Given the description of an element on the screen output the (x, y) to click on. 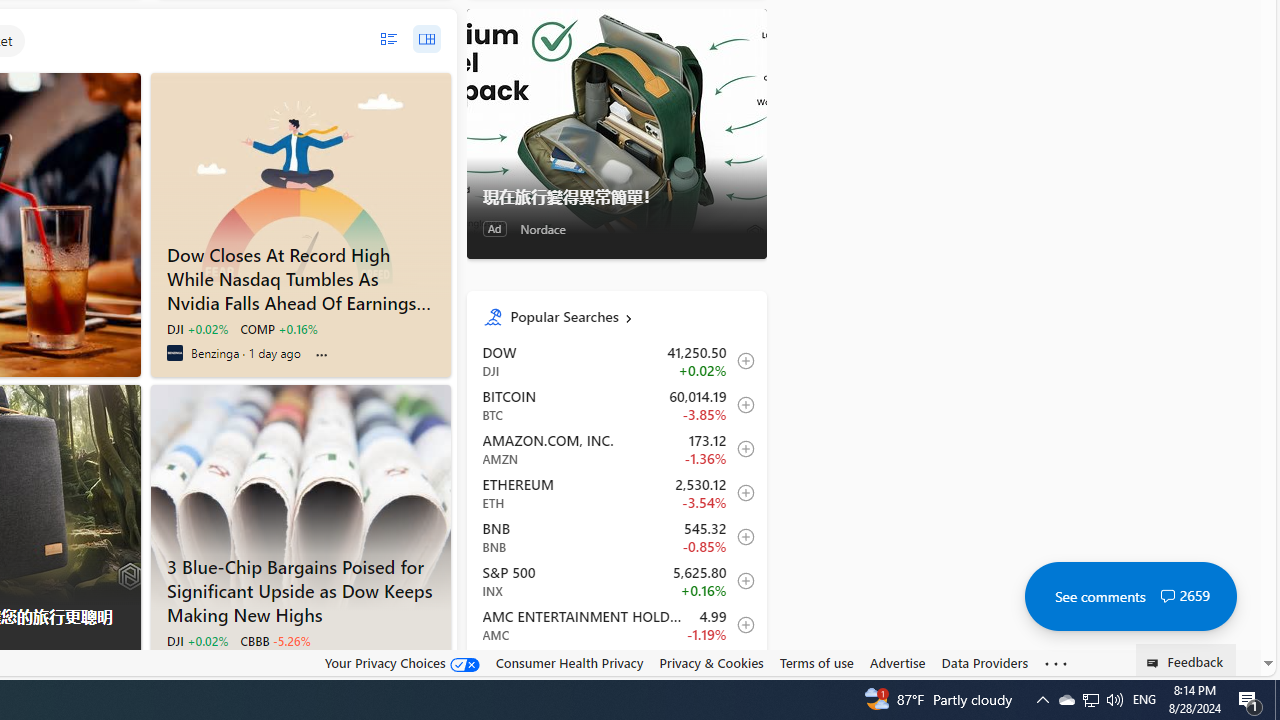
list layout (388, 39)
DJI +0.02% (196, 640)
